Given the description of an element on the screen output the (x, y) to click on. 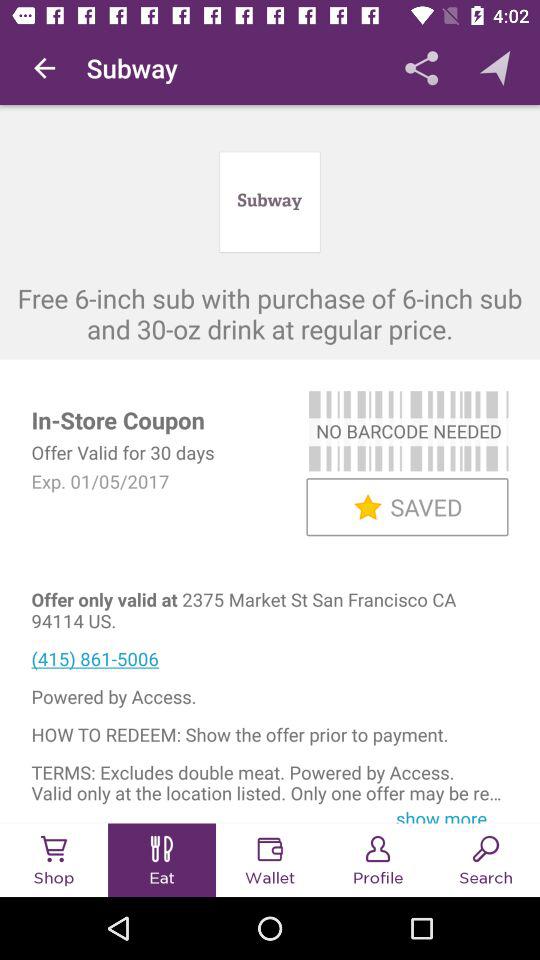
launch the icon below the terms excludes double (448, 814)
